Given the description of an element on the screen output the (x, y) to click on. 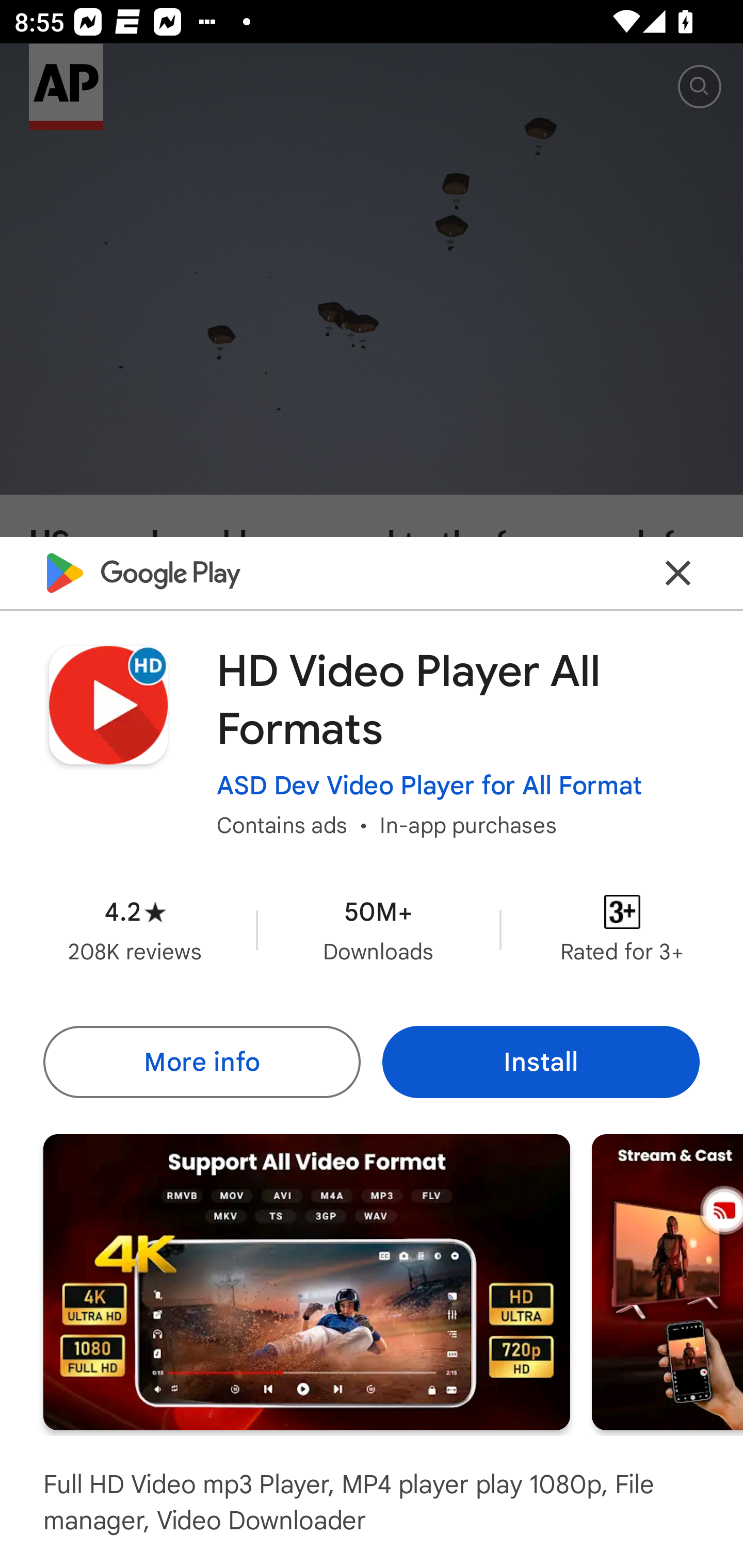
Close (677, 572)
ASD Dev Video Player for All Format (429, 784)
More info (201, 1061)
Install (540, 1061)
Screenshot "1" of "8" (306, 1281)
Screenshot "2" of "8" (667, 1281)
